Given the description of an element on the screen output the (x, y) to click on. 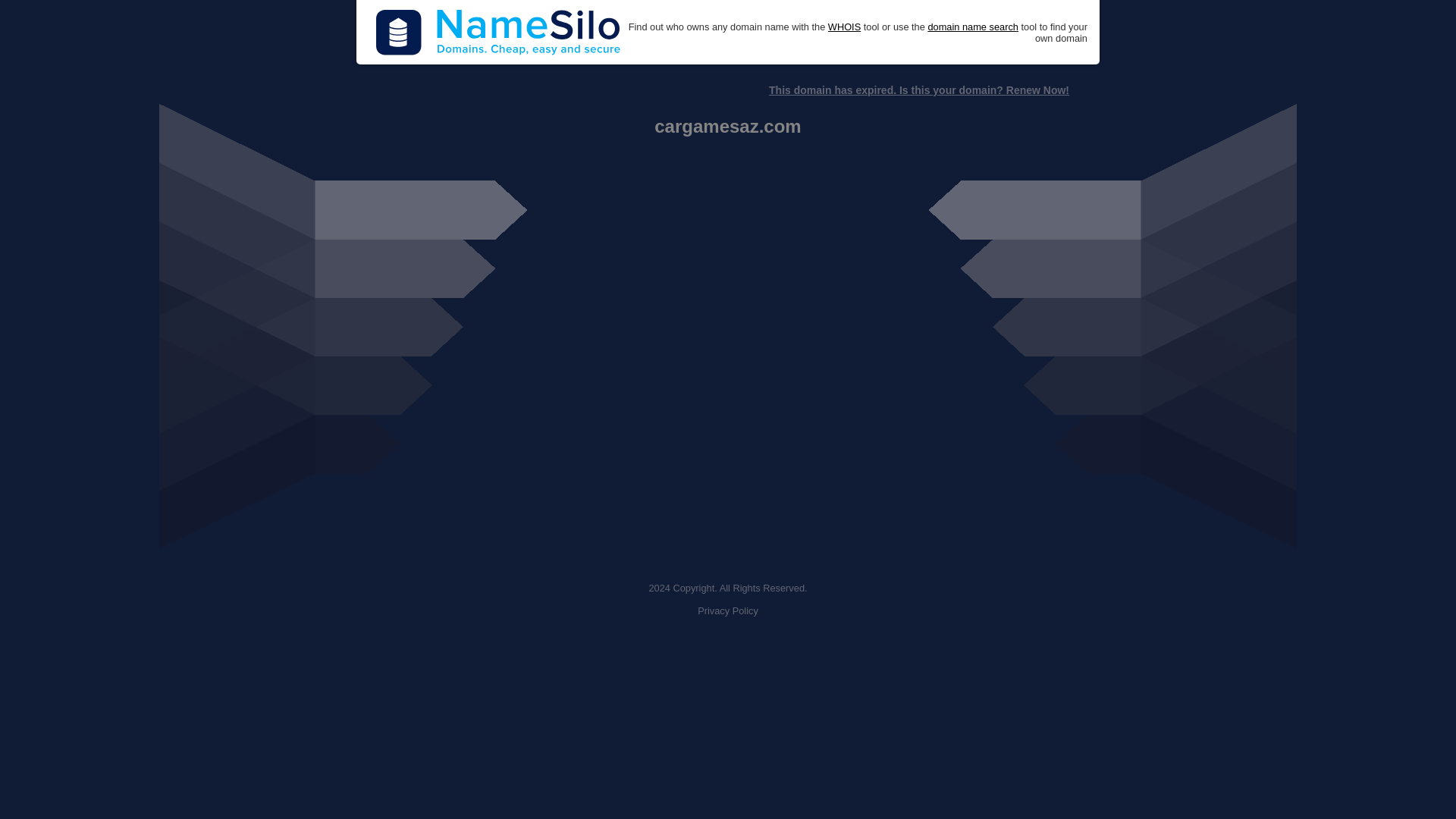
This domain has expired. Is this your domain? Renew Now! (918, 90)
Privacy Policy (727, 610)
domain name search (972, 26)
WHOIS (844, 26)
